Given the description of an element on the screen output the (x, y) to click on. 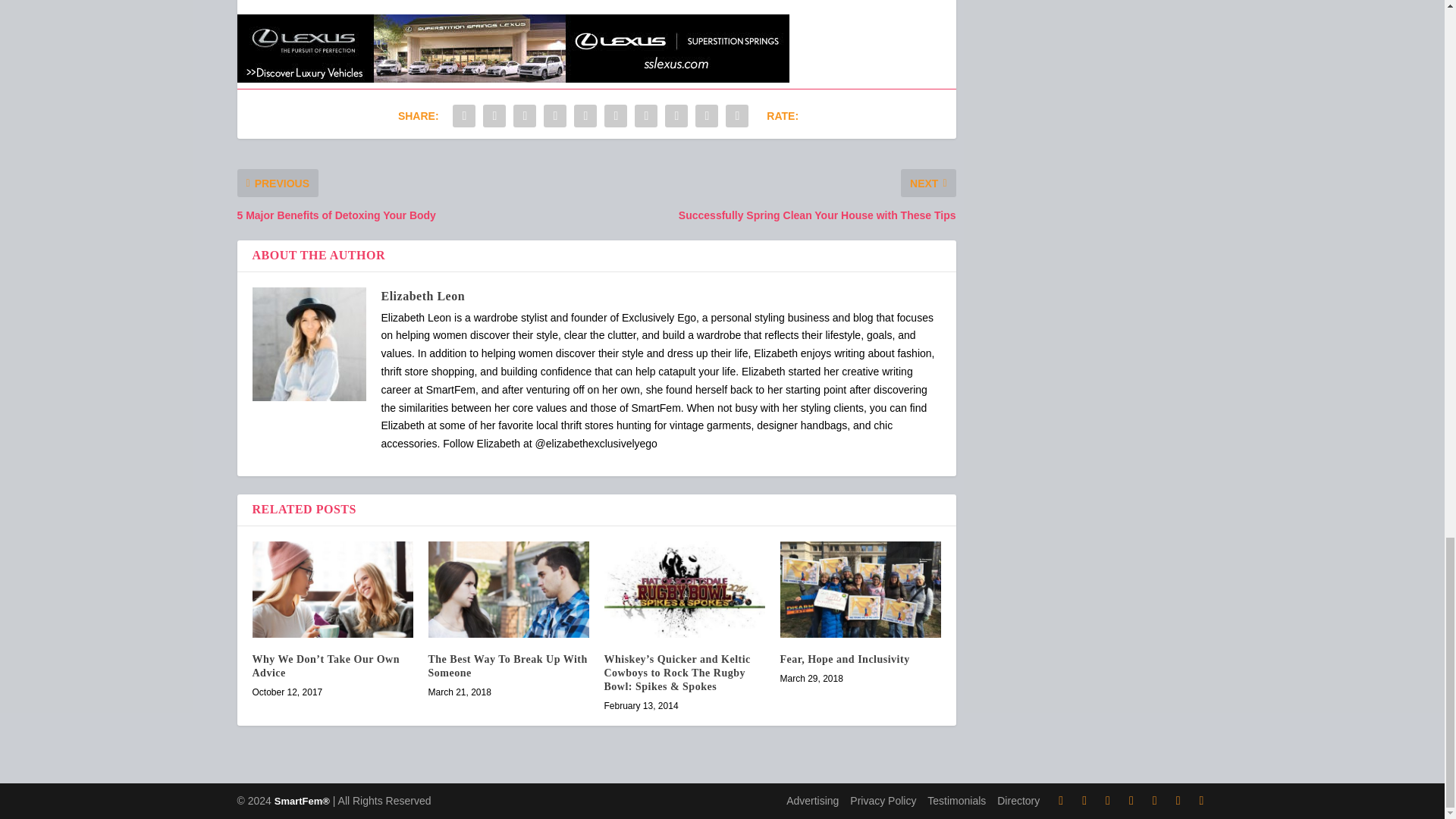
Share "Pros and Cons of Raising an Only Child" via Email (706, 115)
Share "Pros and Cons of Raising an Only Child" via Buffer (645, 115)
Share "Pros and Cons of Raising an Only Child" via Print (737, 115)
Share "Pros and Cons of Raising an Only Child" via LinkedIn (614, 115)
Share "Pros and Cons of Raising an Only Child" via Pinterest (584, 115)
SS Lexus 728 (512, 78)
View all posts by Elizabeth Leon (422, 295)
Share "Pros and Cons of Raising an Only Child" via Tumblr (555, 115)
SS Lexus 728 (512, 48)
Share "Pros and Cons of Raising an Only Child" via Facebook (463, 115)
Share "Pros and Cons of Raising an Only Child" via Twitter (494, 115)
